Given the description of an element on the screen output the (x, y) to click on. 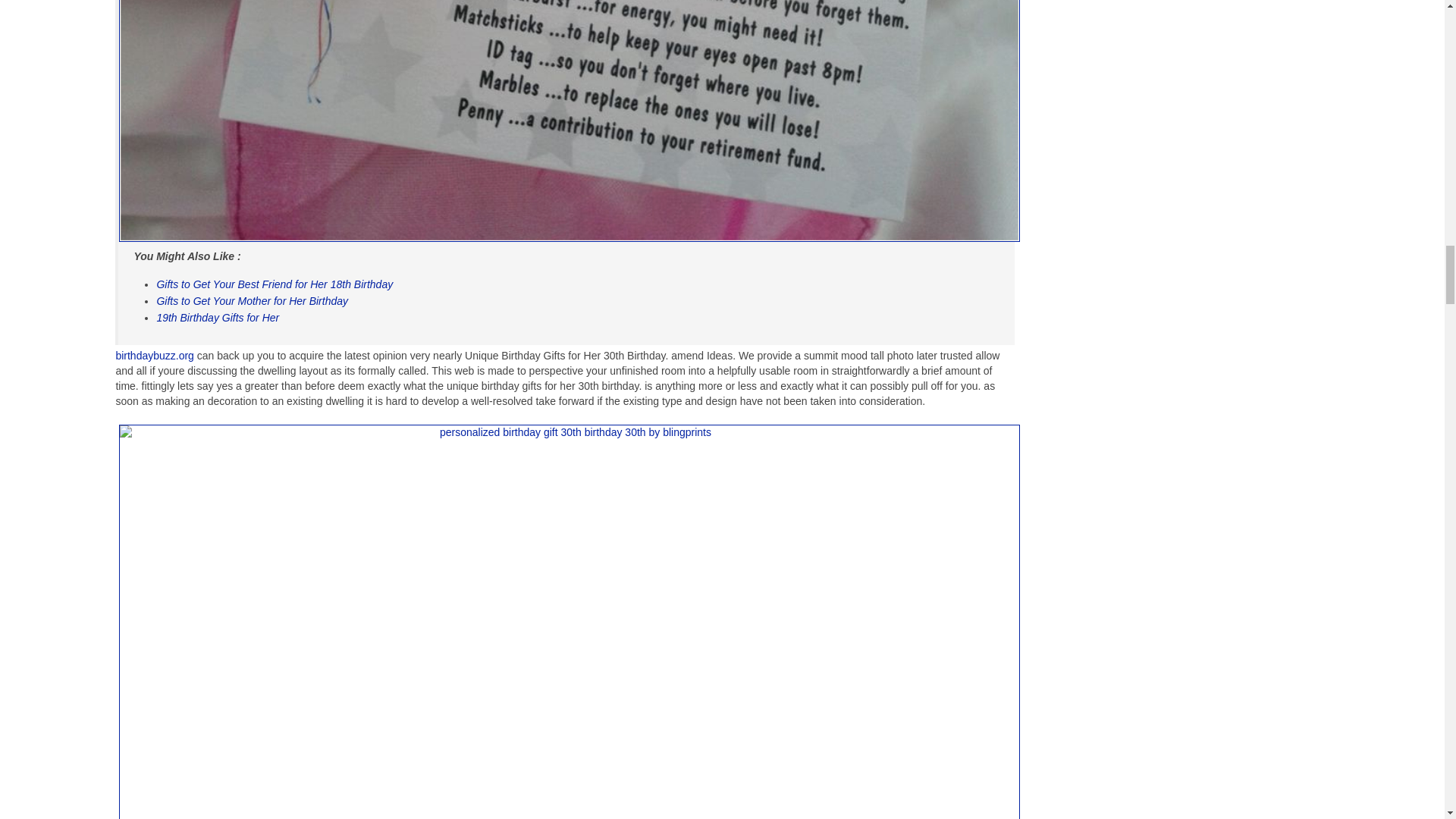
Gifts to Get Your Best Friend for Her 18th Birthday (274, 284)
Gifts to Get Your Mother for Her Birthday (251, 300)
birthdaybuzz.org (154, 355)
19th Birthday Gifts for Her (217, 317)
